Given the description of an element on the screen output the (x, y) to click on. 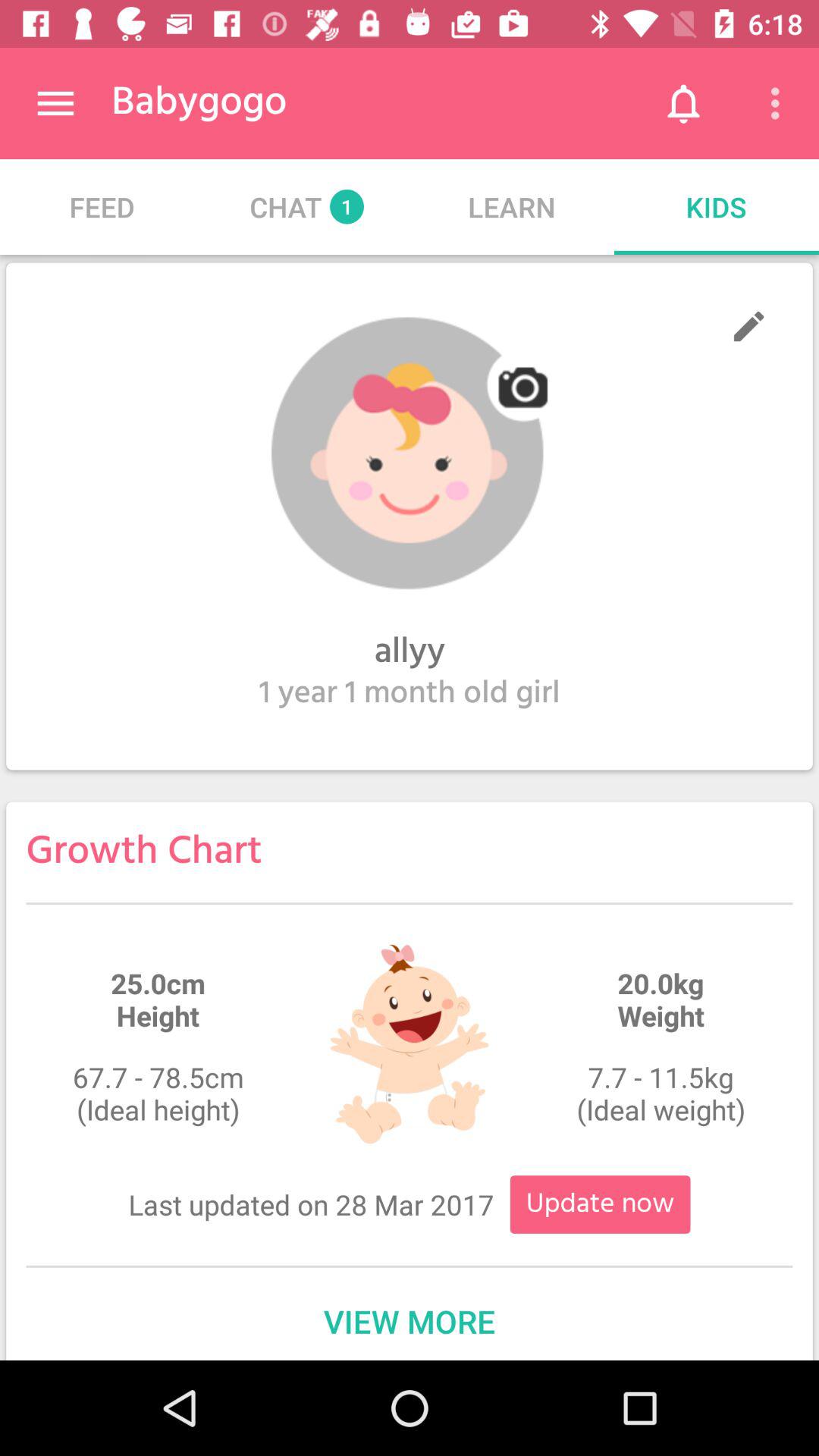
camera image (409, 453)
